Given the description of an element on the screen output the (x, y) to click on. 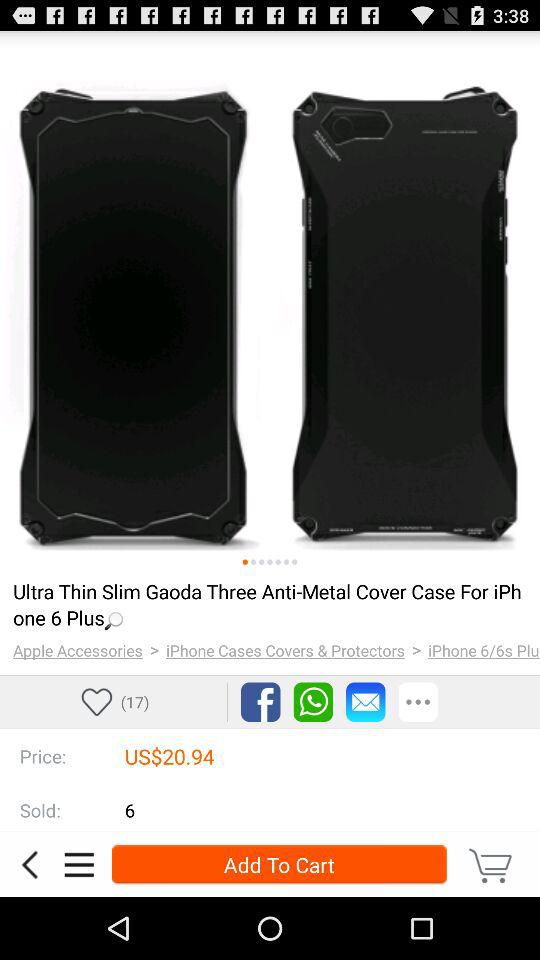
open the sidebar menu (79, 864)
